Given the description of an element on the screen output the (x, y) to click on. 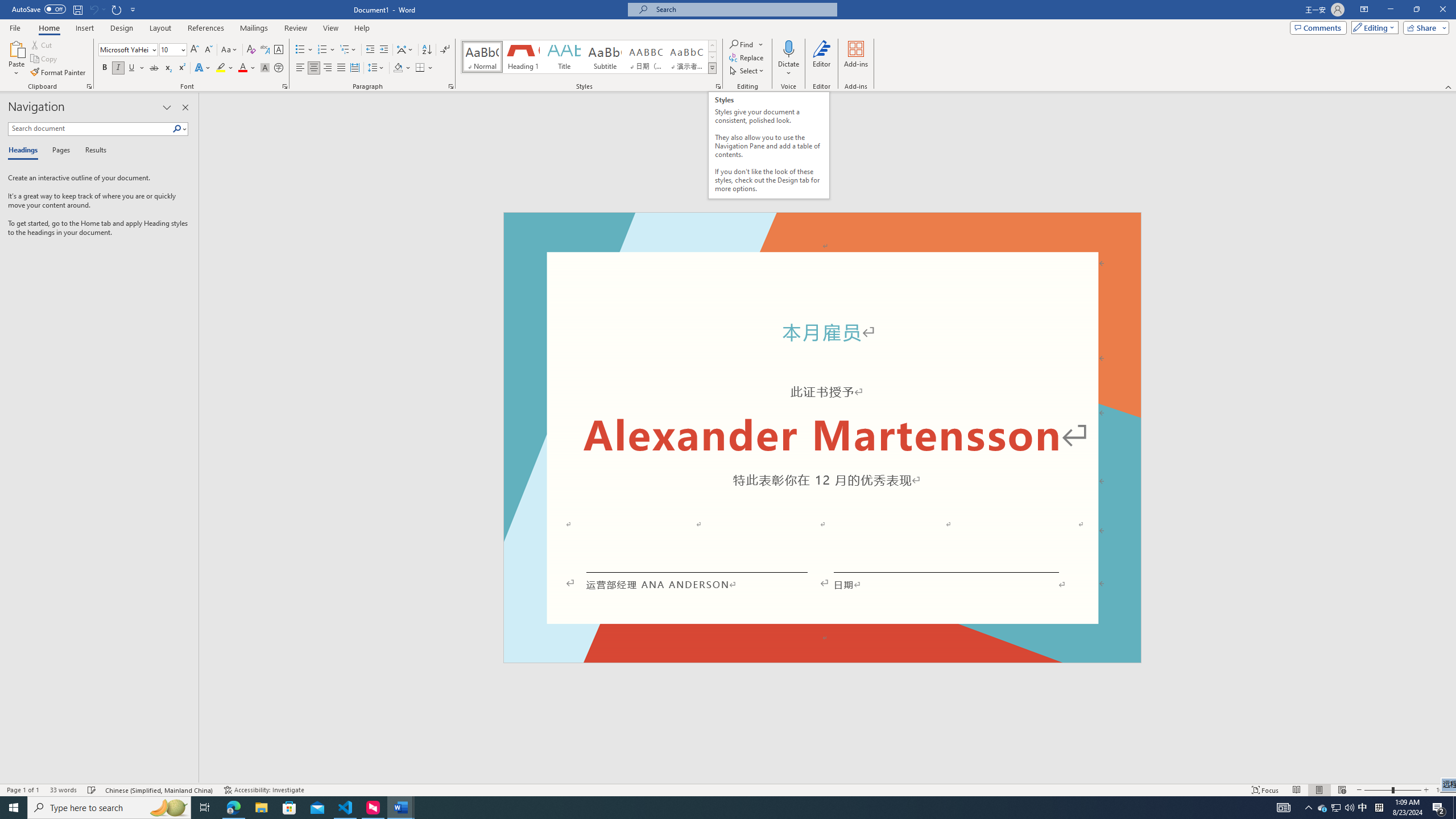
Italic (118, 67)
Line and Paragraph Spacing (376, 67)
Text Effects and Typography (202, 67)
Headings (25, 150)
Asian Layout (405, 49)
